Given the description of an element on the screen output the (x, y) to click on. 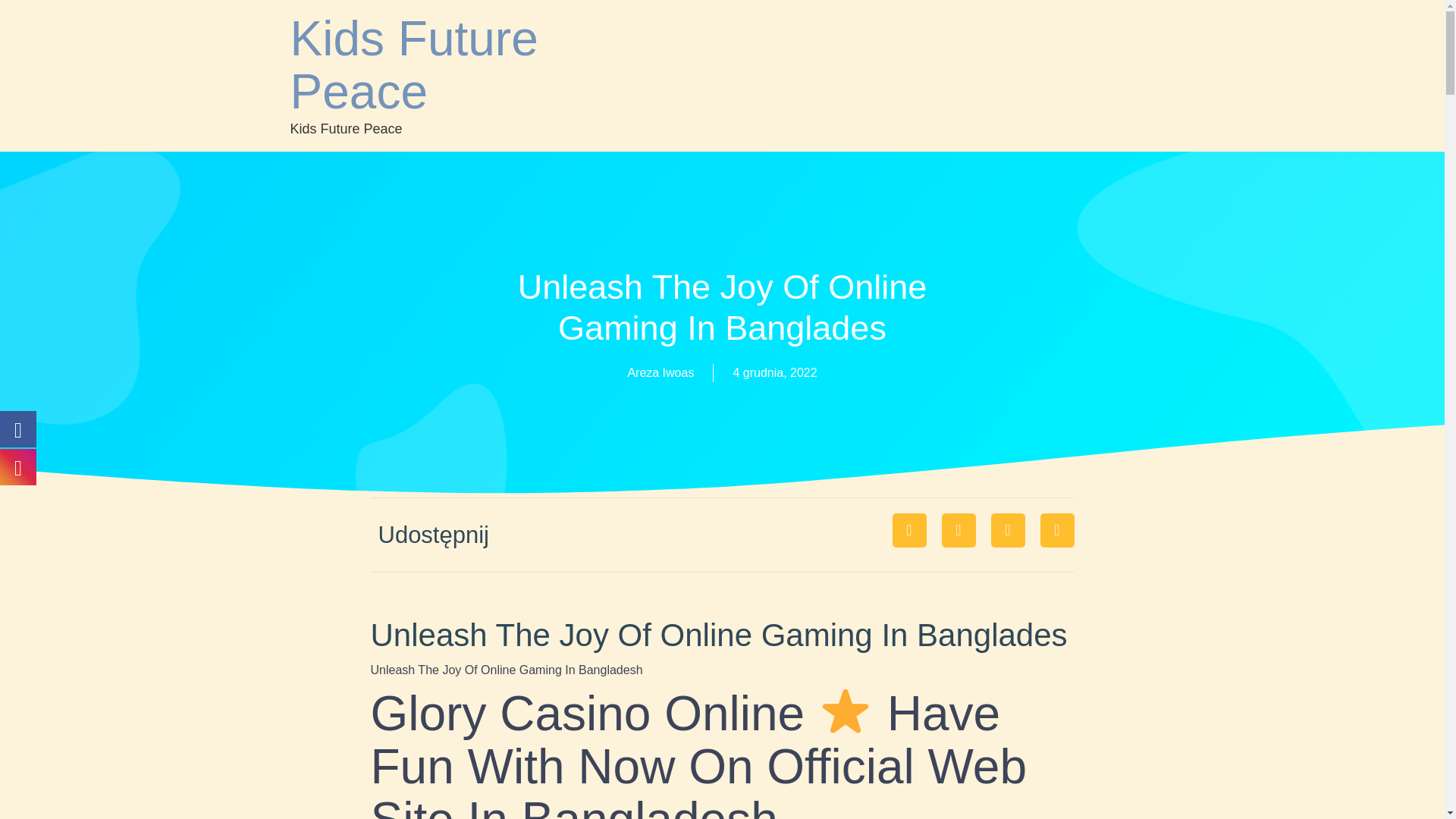
4 grudnia, 2022 (774, 372)
Kids Future Peace (413, 64)
Areza Iwoas (660, 372)
